Given the description of an element on the screen output the (x, y) to click on. 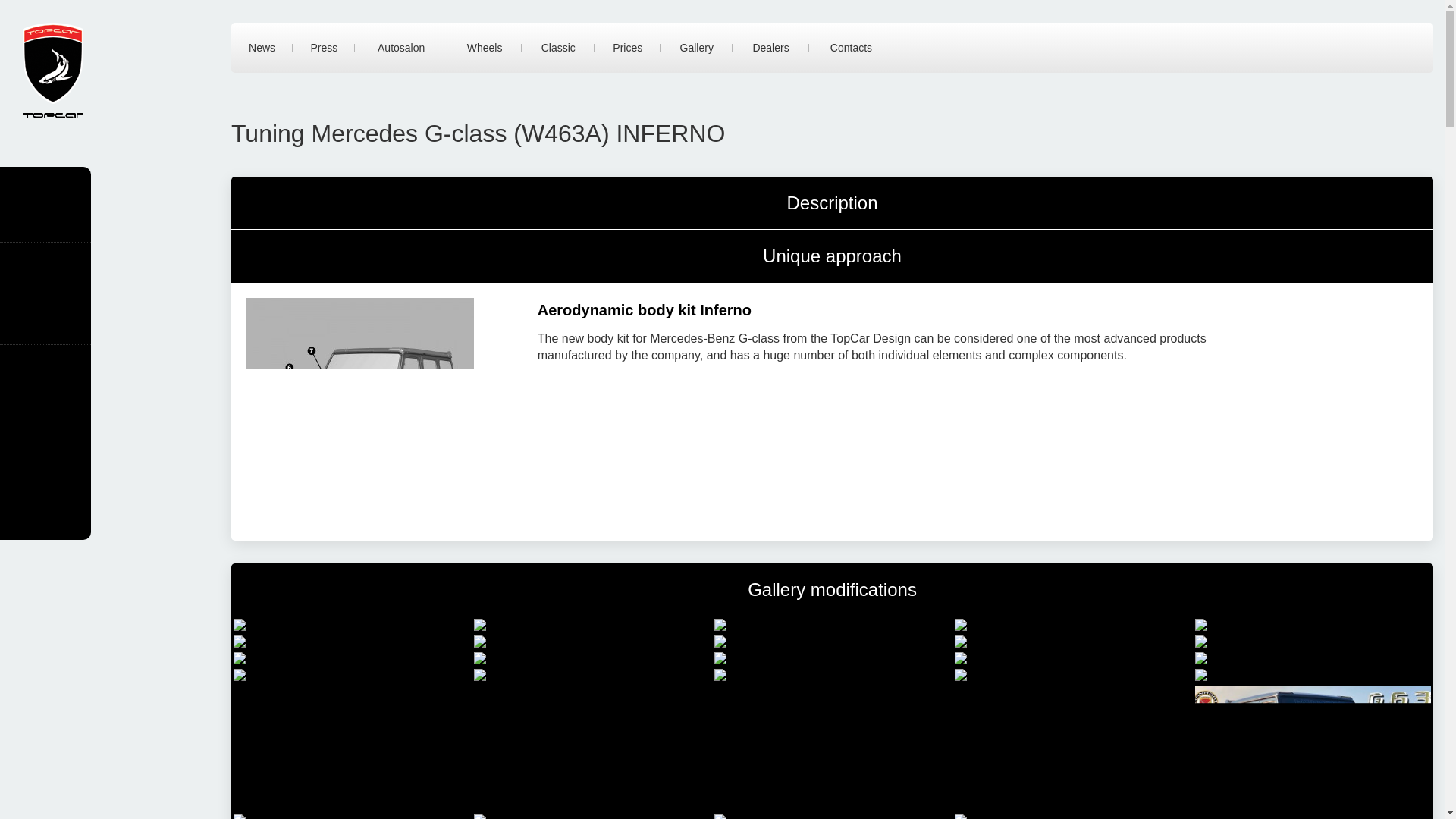
Dealers (770, 47)
Wheels (483, 47)
Prices (627, 47)
News (261, 47)
Classic (557, 47)
Autosalon (400, 47)
Contacts (851, 47)
Dealers (770, 47)
Aerodynamic body kit Inferno (644, 310)
Gallery (696, 47)
Press (323, 47)
Classic (557, 47)
Press (323, 47)
Autosalon (400, 47)
Contacts (851, 47)
